Given the description of an element on the screen output the (x, y) to click on. 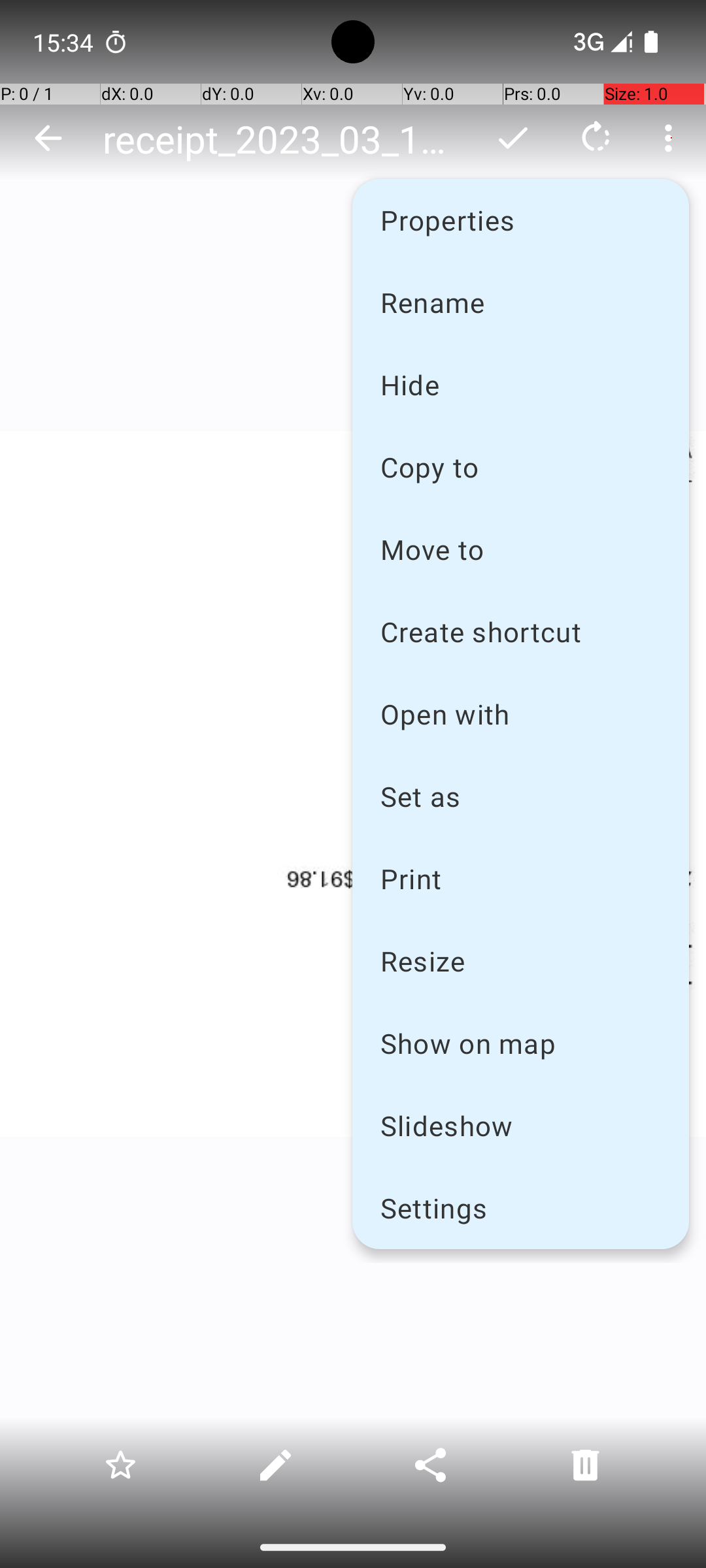
Hide Element type: android.widget.TextView (520, 384)
Copy to Element type: android.widget.TextView (520, 466)
Move to Element type: android.widget.TextView (520, 548)
Create shortcut Element type: android.widget.TextView (520, 631)
Set as Element type: android.widget.TextView (520, 795)
Print Element type: android.widget.TextView (520, 878)
Resize Element type: android.widget.TextView (520, 960)
Slideshow Element type: android.widget.TextView (520, 1124)
